Given the description of an element on the screen output the (x, y) to click on. 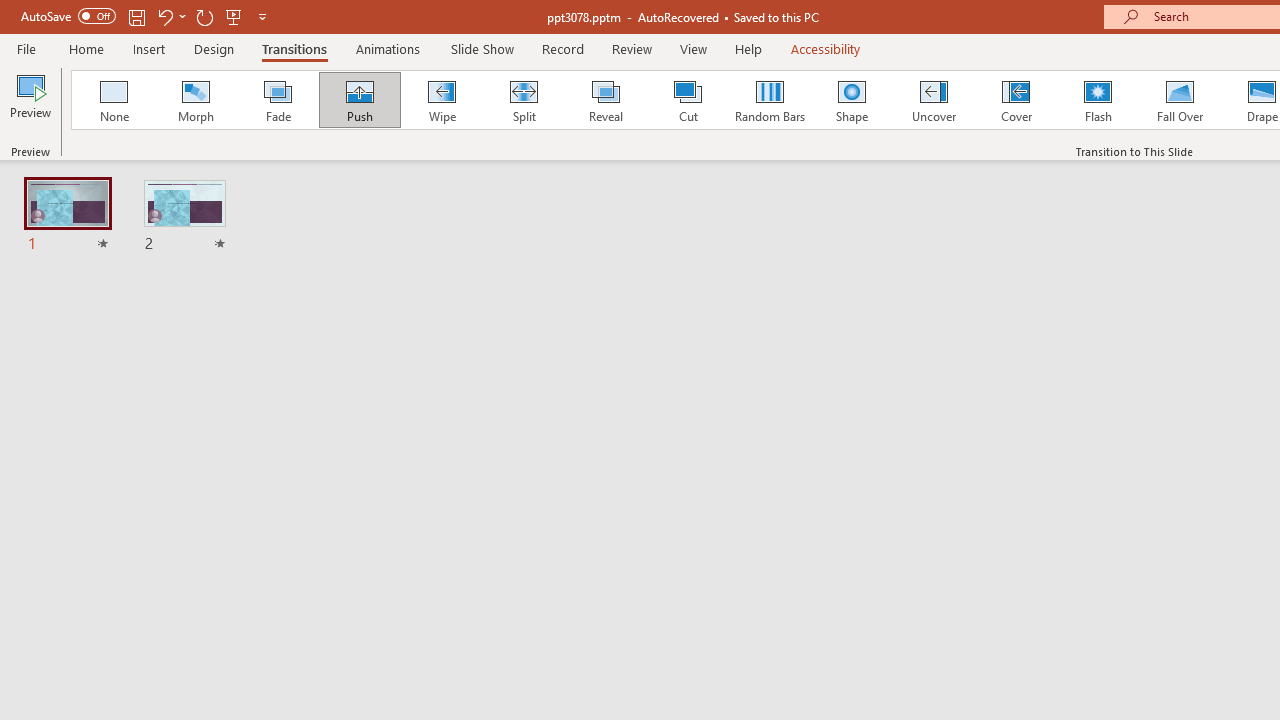
Push (359, 100)
Uncover (934, 100)
Fall Over (1180, 100)
Morph (195, 100)
